Given the description of an element on the screen output the (x, y) to click on. 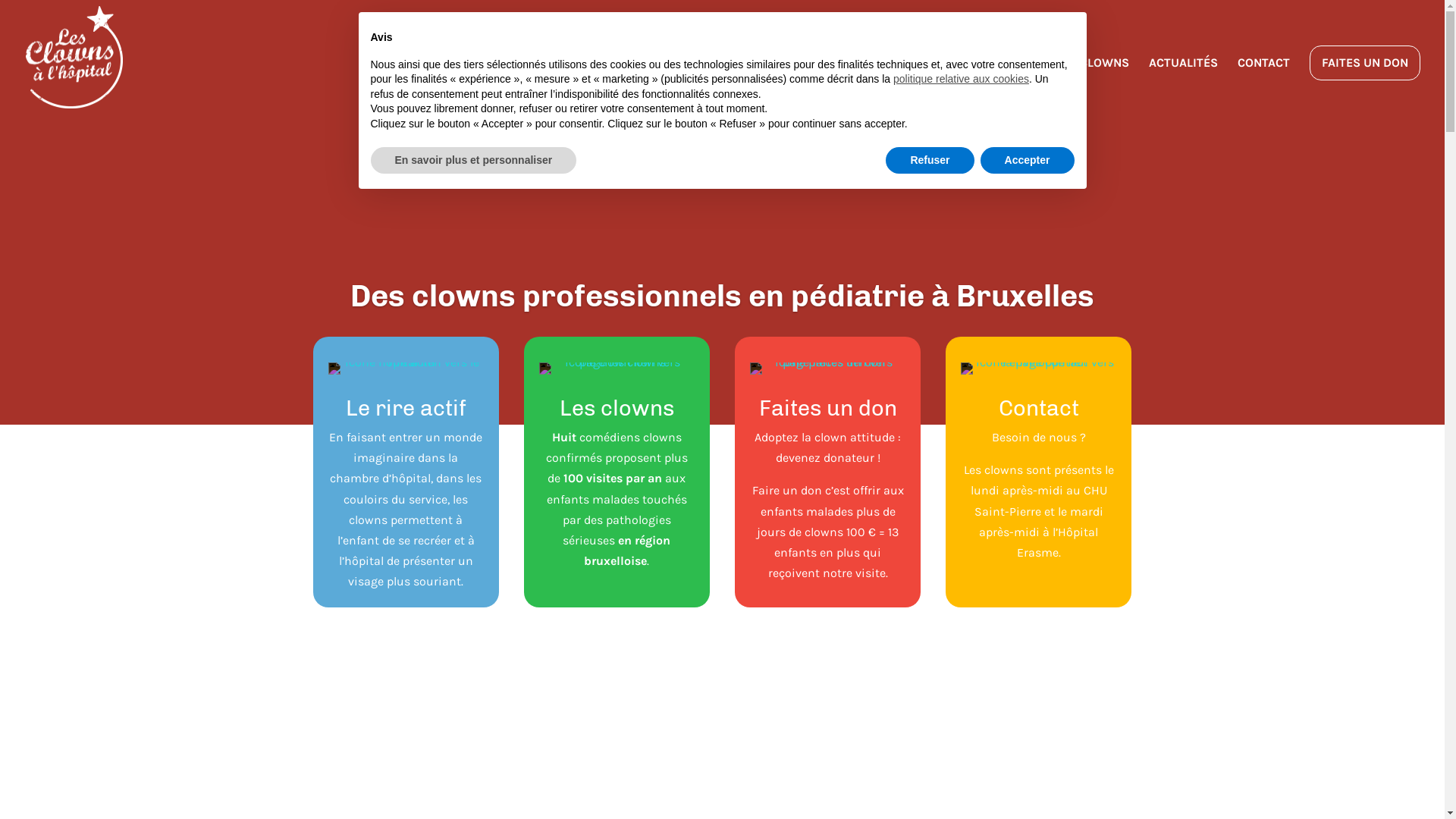
NOTRE ACTION Element type: text (880, 85)
Les clowns Element type: text (616, 407)
LES CLOWNS Element type: text (1092, 85)
Refuser Element type: text (929, 160)
FAITES UN DON Element type: text (1364, 62)
Le rire actif Element type: text (405, 407)
CONTACT Element type: text (1263, 85)
Faites un don Element type: text (827, 407)
politique relative aux cookies Element type: text (961, 78)
Contact Element type: text (1038, 407)
En savoir plus et personnaliser Element type: text (473, 160)
LE RIRE ACTIF Element type: text (780, 85)
Accepter Element type: text (1027, 160)
NOTRE HISTOIRE Element type: text (989, 85)
